Given the description of an element on the screen output the (x, y) to click on. 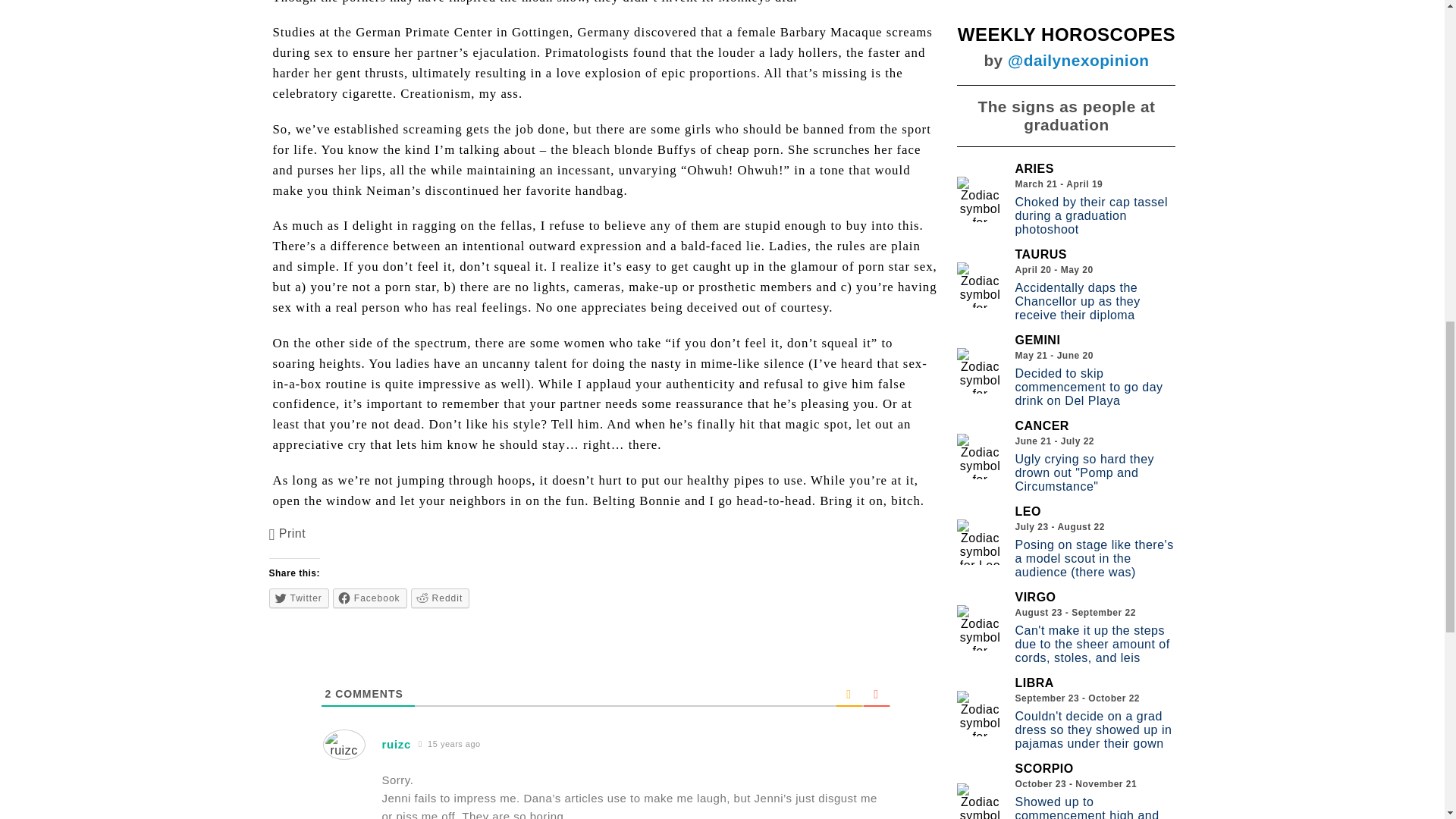
Click to share on Reddit (440, 598)
Click to share on Facebook (370, 598)
November 12, 2008 8:34 pm (449, 744)
Click to share on Twitter (299, 598)
